Given the description of an element on the screen output the (x, y) to click on. 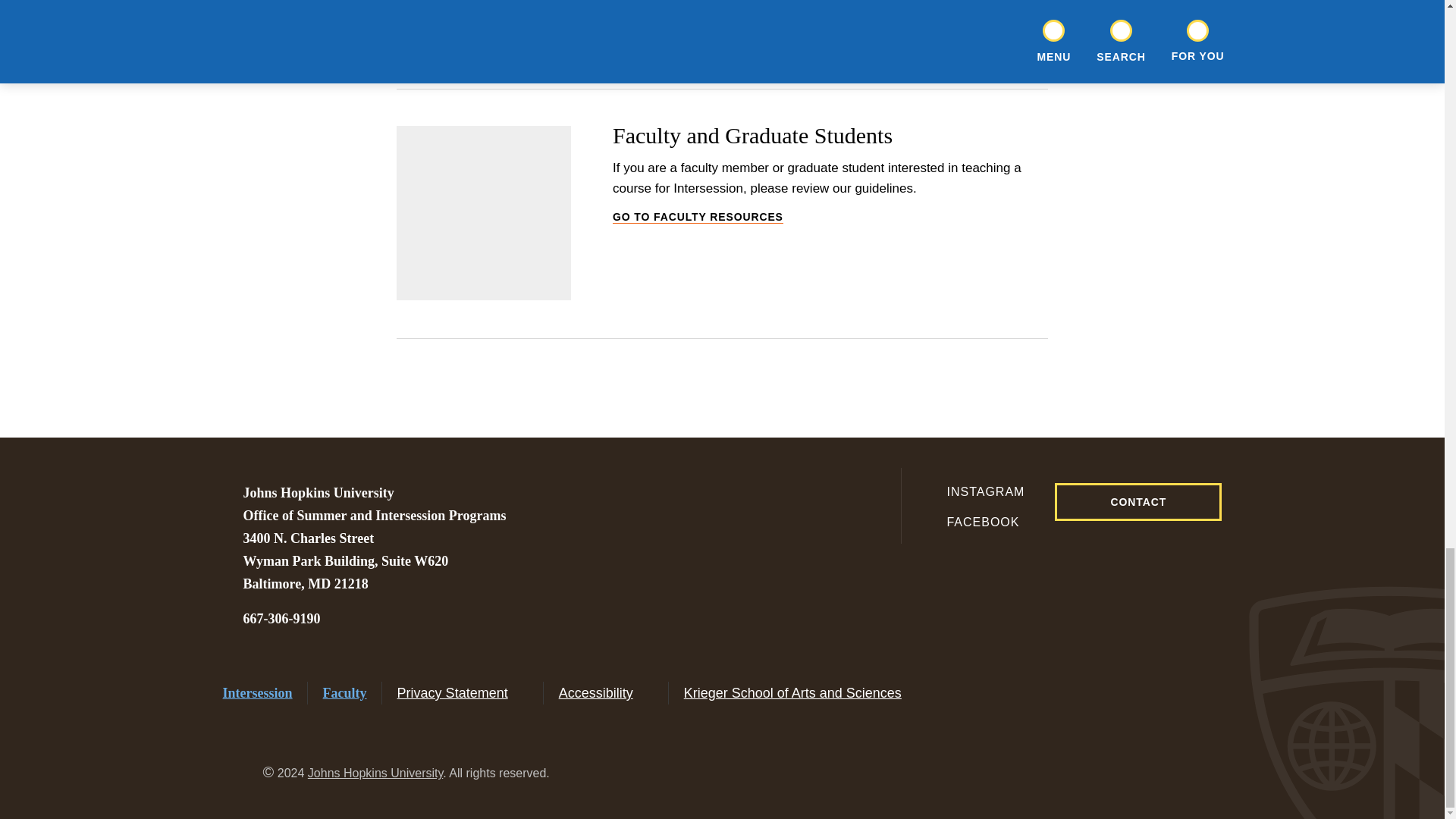
INSTAGRAM (974, 492)
Privacy Statement (462, 693)
Faculty (344, 693)
CONTACT (1137, 501)
GO TO FACULTY RESOURCES (830, 216)
Intersession (257, 693)
Johns Hopkins University (281, 618)
FACEBOOK (374, 772)
Krieger School of Arts and Sciences (974, 522)
Accessibility (802, 693)
